Given the description of an element on the screen output the (x, y) to click on. 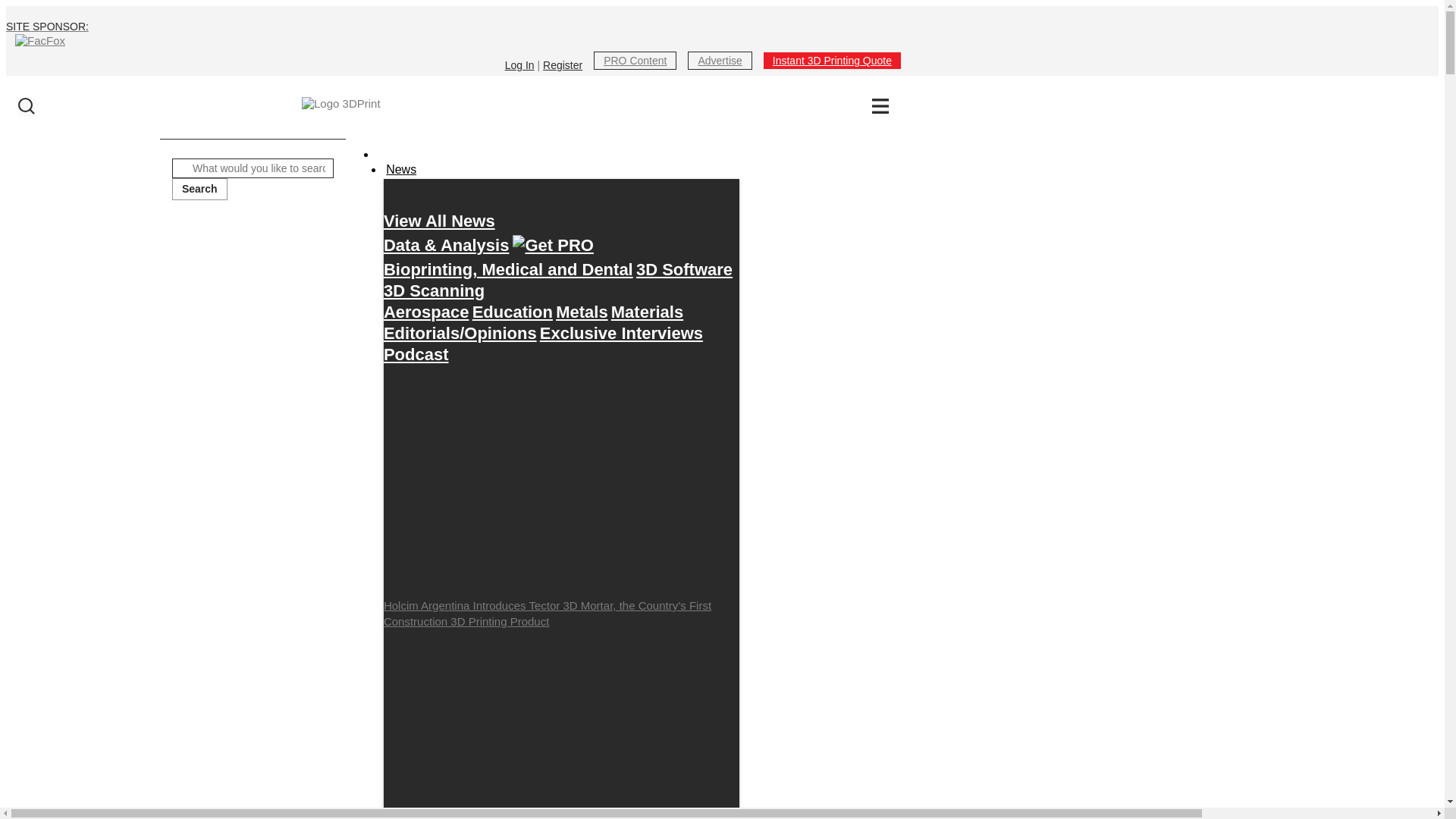
View All News (439, 220)
Instant 3D Printing Quote (831, 59)
Exclusive Interviews (621, 333)
Register (562, 64)
Bioprinting, Medical and Dental (508, 269)
Search (199, 189)
Podcast (416, 354)
PRO Content (635, 59)
Advertise (719, 59)
3D Scanning (434, 290)
Log In (519, 64)
Education (512, 311)
Materials (646, 311)
3D Software (684, 269)
Aerospace (426, 311)
